Given the description of an element on the screen output the (x, y) to click on. 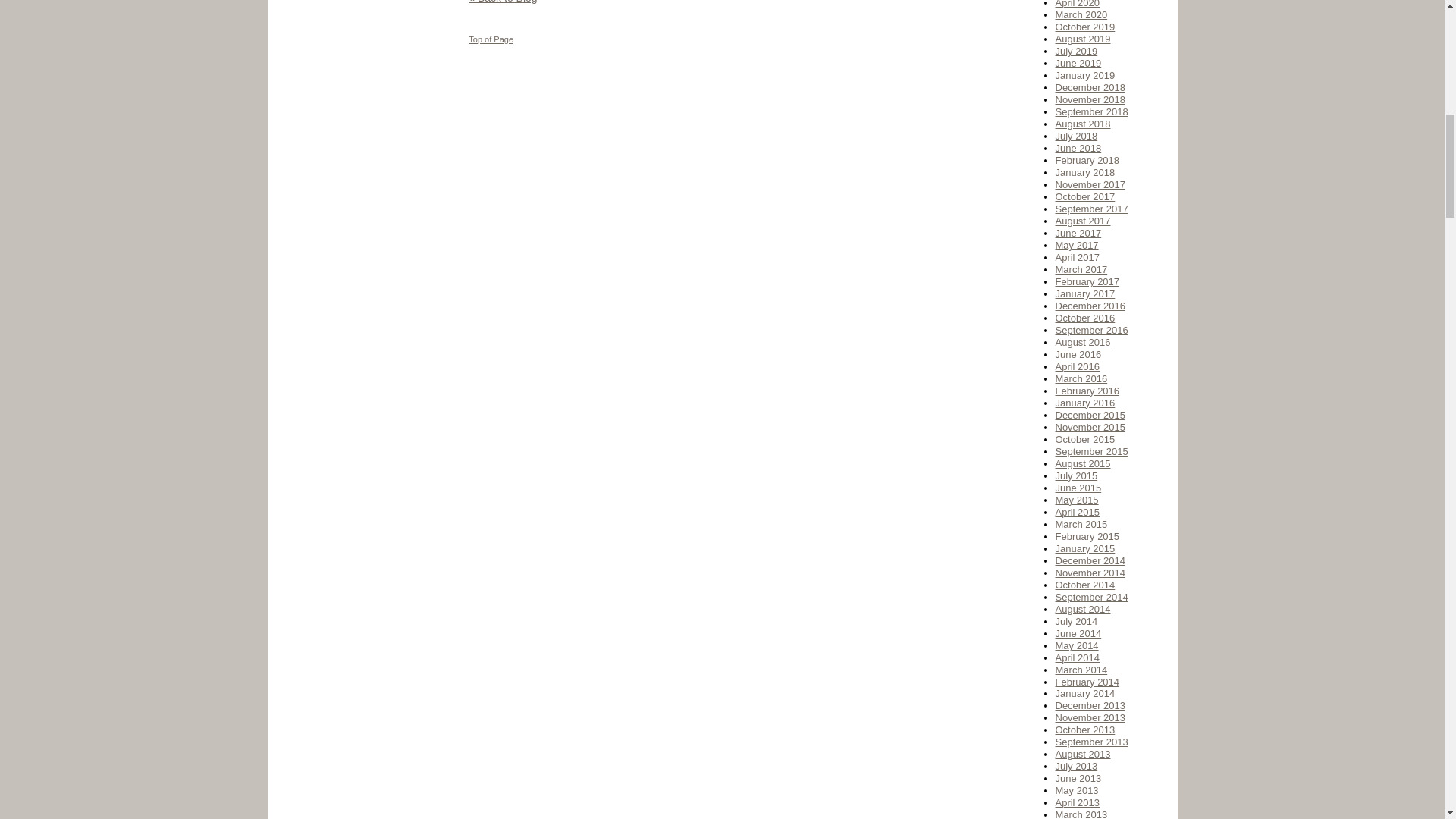
July 2019 (1076, 50)
August 2019 (1082, 39)
October 2019 (1085, 26)
June 2019 (1078, 62)
April 2020 (1077, 4)
Top of Page (490, 39)
December 2018 (1090, 87)
November 2018 (1090, 99)
September 2018 (1091, 111)
March 2020 (1081, 14)
